Given the description of an element on the screen output the (x, y) to click on. 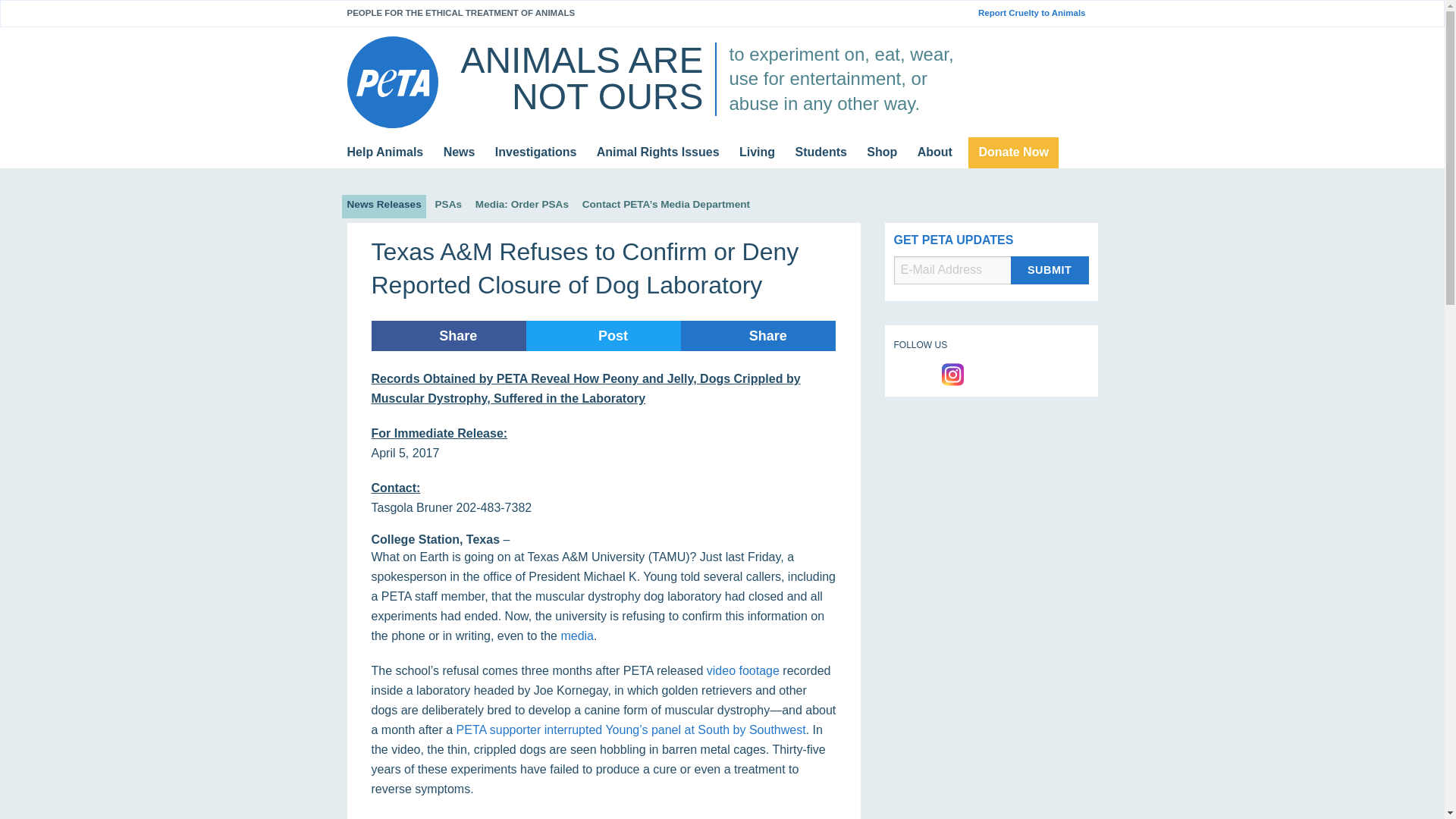
ANIMALS ARE NOT OURS (581, 78)
Report Cruelty to Animals (1037, 13)
PEOPLE FOR THE ETHICAL TREATMENT OF ANIMALS (461, 13)
Submit (1049, 270)
